Given the description of an element on the screen output the (x, y) to click on. 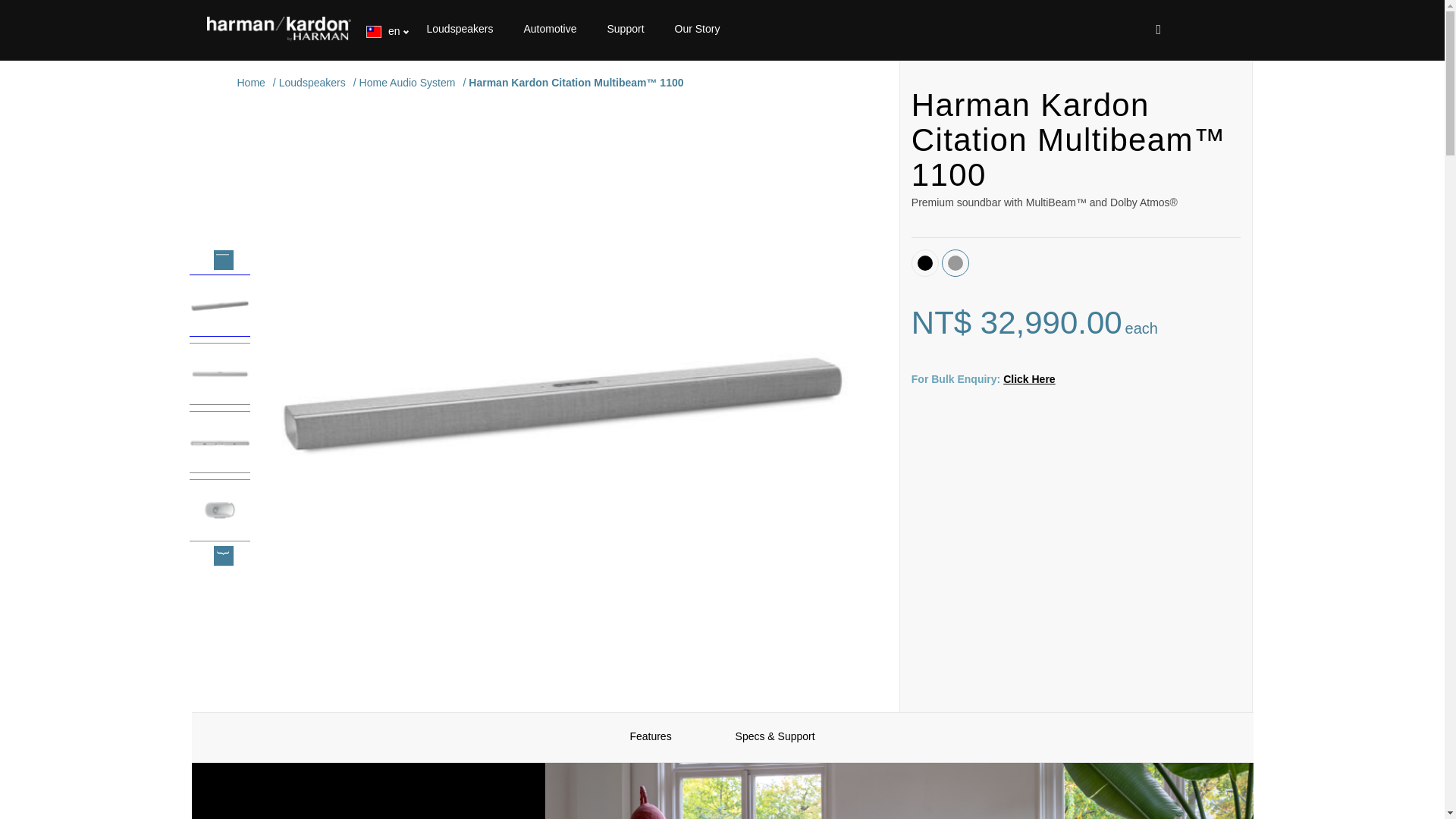
Search (1207, 30)
NEXT (223, 555)
Automotive (549, 28)
Home (251, 82)
PREVIOUS (223, 259)
Loudspeakers (459, 28)
Black (925, 263)
Click Here (1028, 378)
Grey (954, 263)
Our Story (697, 28)
Features (649, 735)
Loudspeakers (314, 82)
Home Audio System (408, 82)
Support (625, 28)
